Given the description of an element on the screen output the (x, y) to click on. 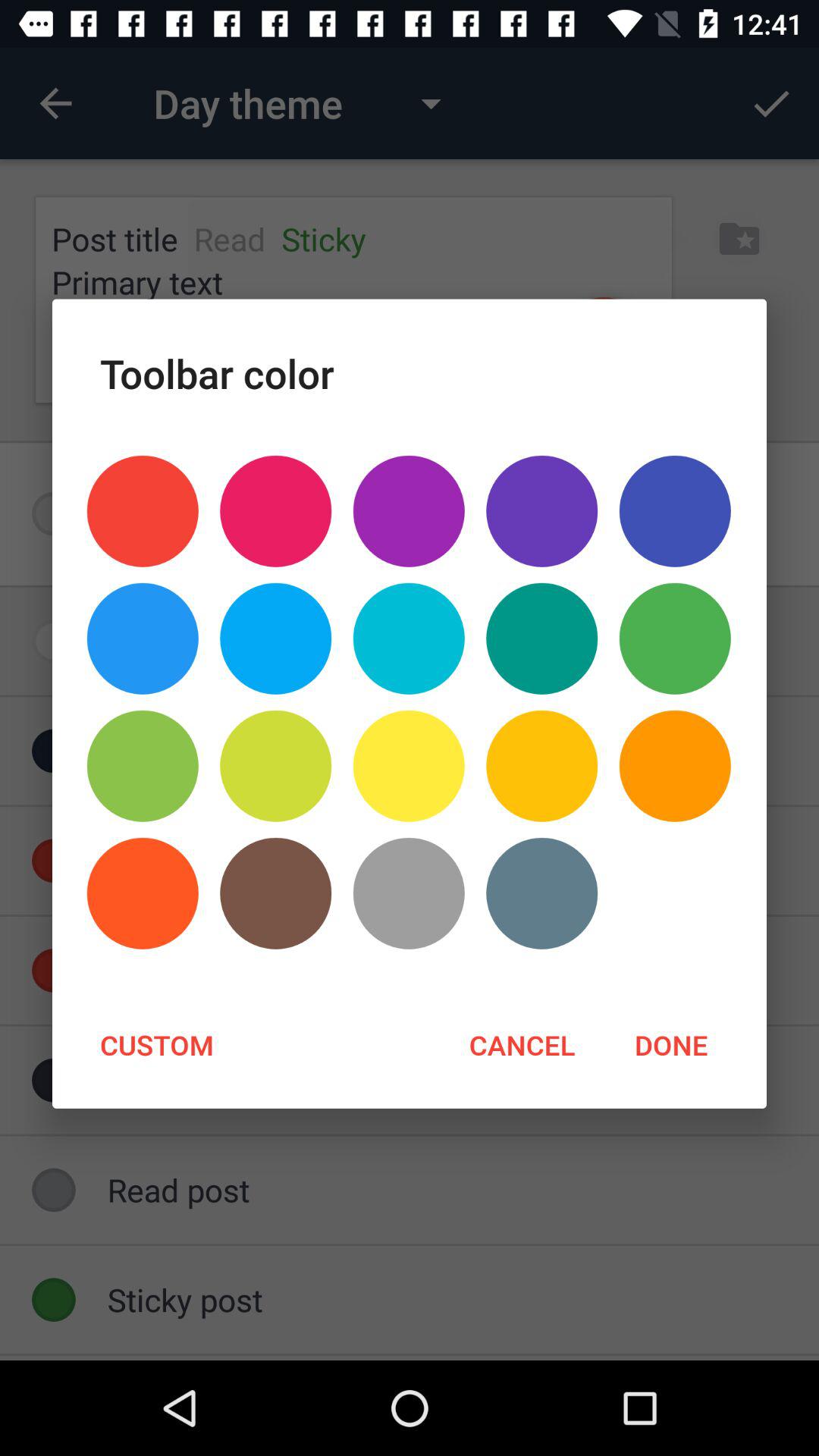
press the cancel at the bottom (522, 1044)
